Given the description of an element on the screen output the (x, y) to click on. 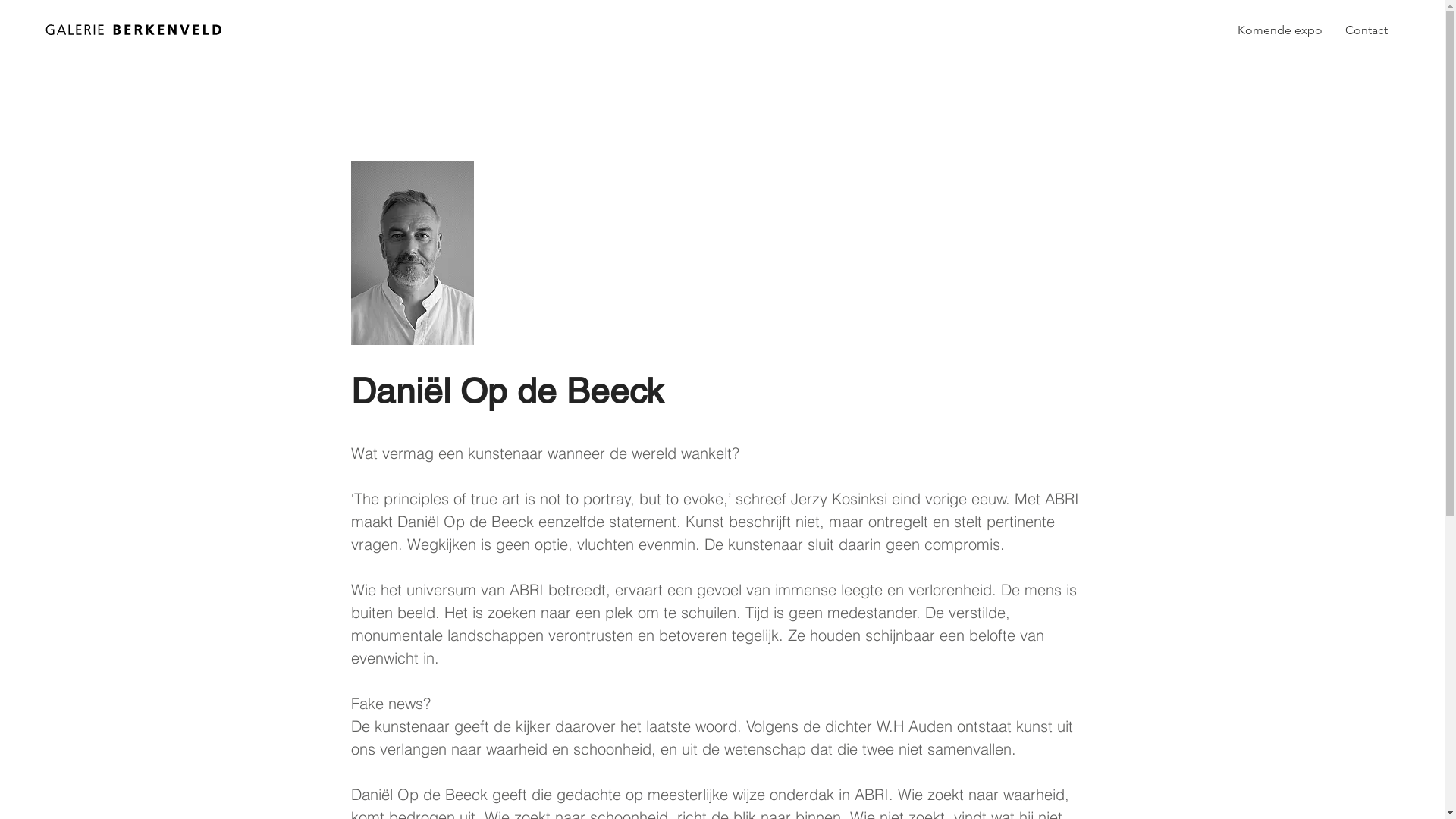
Contact Element type: text (1366, 30)
Komende expo Element type: text (1279, 30)
